Given the description of an element on the screen output the (x, y) to click on. 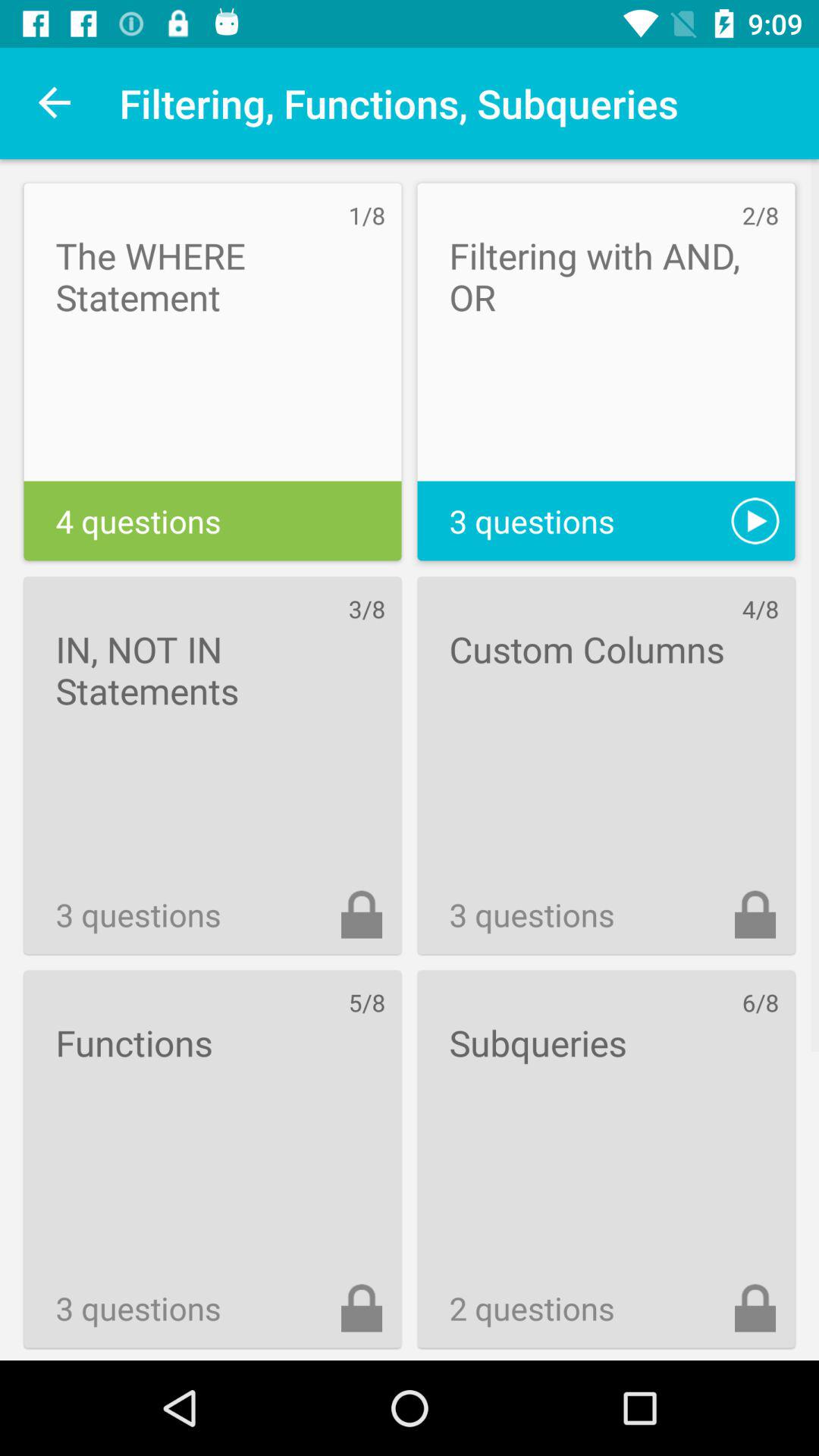
launch item to the left of the filtering, functions, subqueries item (55, 103)
